Given the description of an element on the screen output the (x, y) to click on. 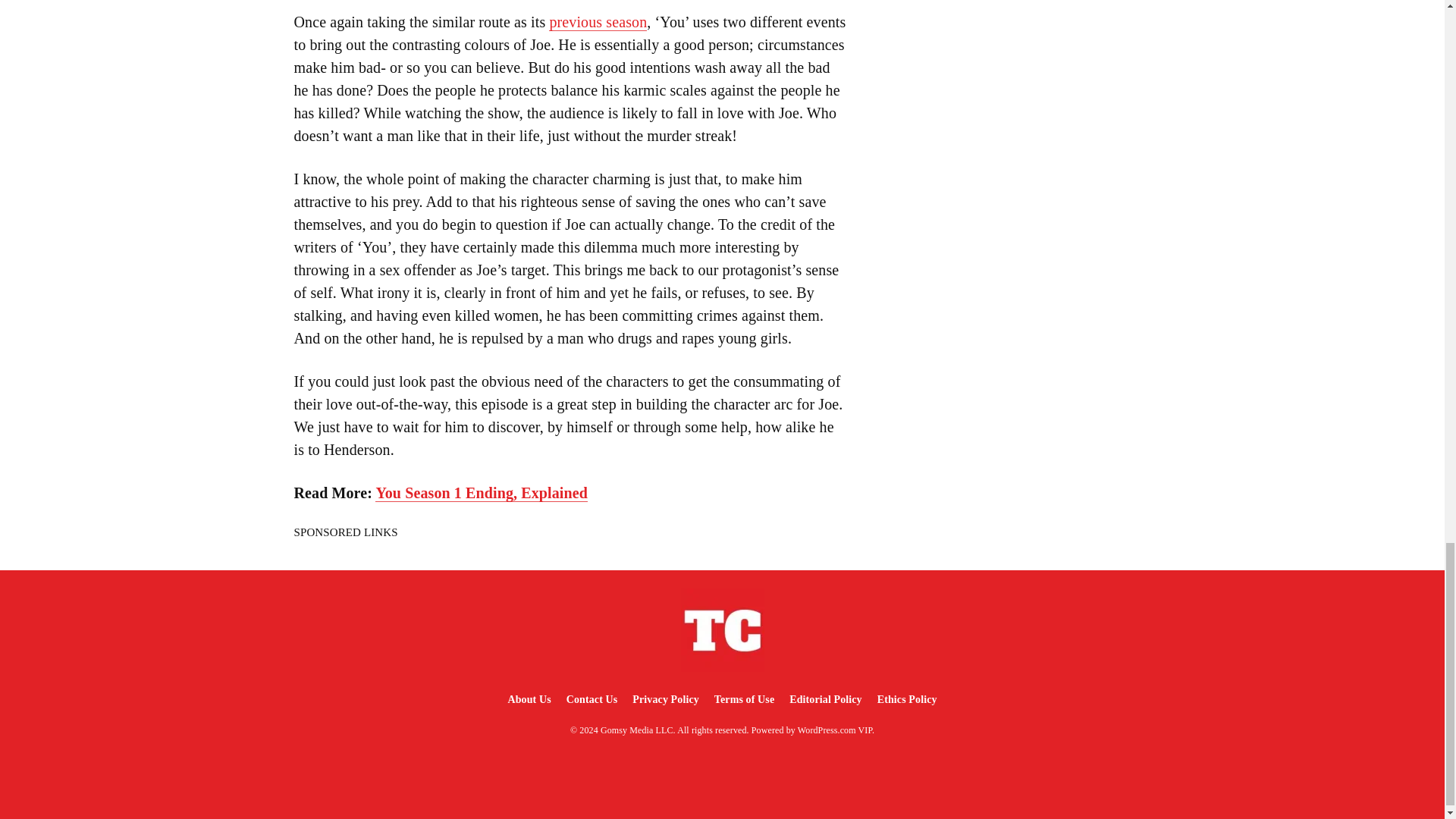
Terms of Use (743, 699)
Privacy Policy (665, 699)
About Us (528, 699)
Editorial Policy (825, 699)
WordPress.com VIP (834, 729)
previous season (597, 22)
Contact Us (592, 699)
You Season 1 Ending, Explained (481, 493)
Ethics Policy (906, 699)
